Given the description of an element on the screen output the (x, y) to click on. 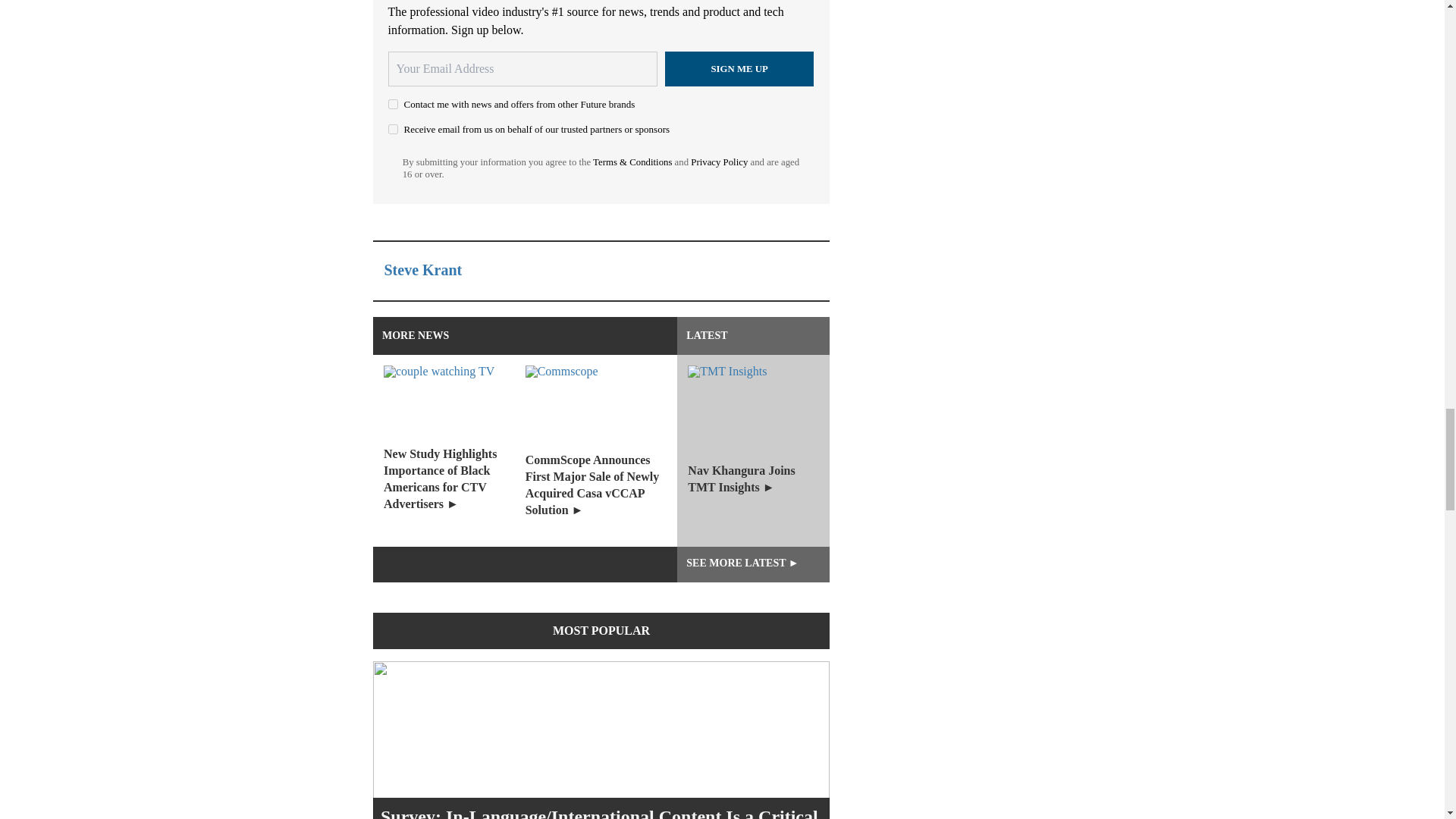
Sign me up (739, 68)
on (392, 103)
Steve Krant (422, 269)
on (392, 129)
Sign me up (739, 68)
Privacy Policy (719, 162)
